Given the description of an element on the screen output the (x, y) to click on. 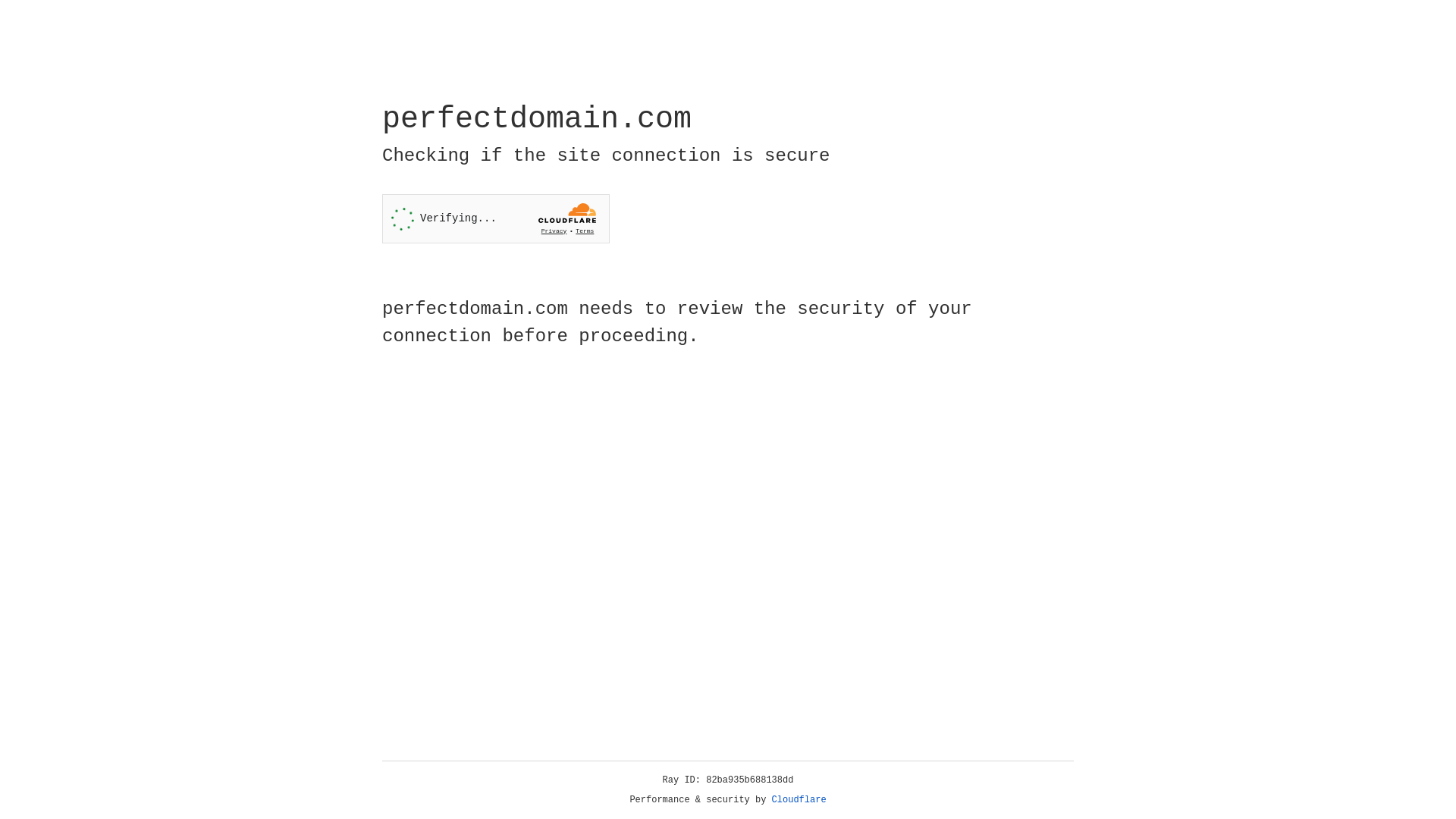
Cloudflare Element type: text (798, 799)
Widget containing a Cloudflare security challenge Element type: hover (495, 218)
